Given the description of an element on the screen output the (x, y) to click on. 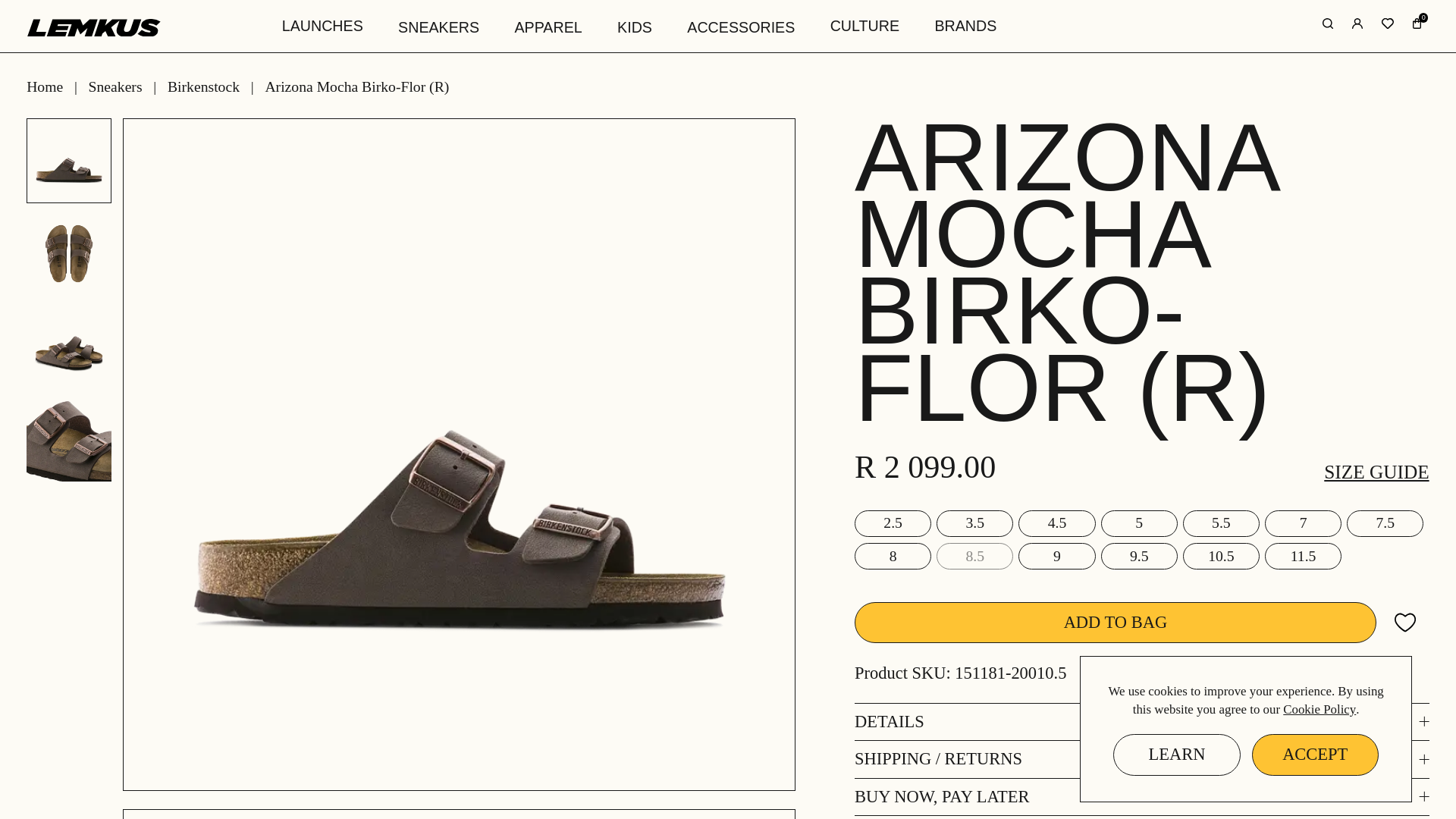
BRANDS (966, 27)
ACCESSORIES (740, 28)
LAUNCHES (321, 27)
SNEAKERS (439, 28)
